Given the description of an element on the screen output the (x, y) to click on. 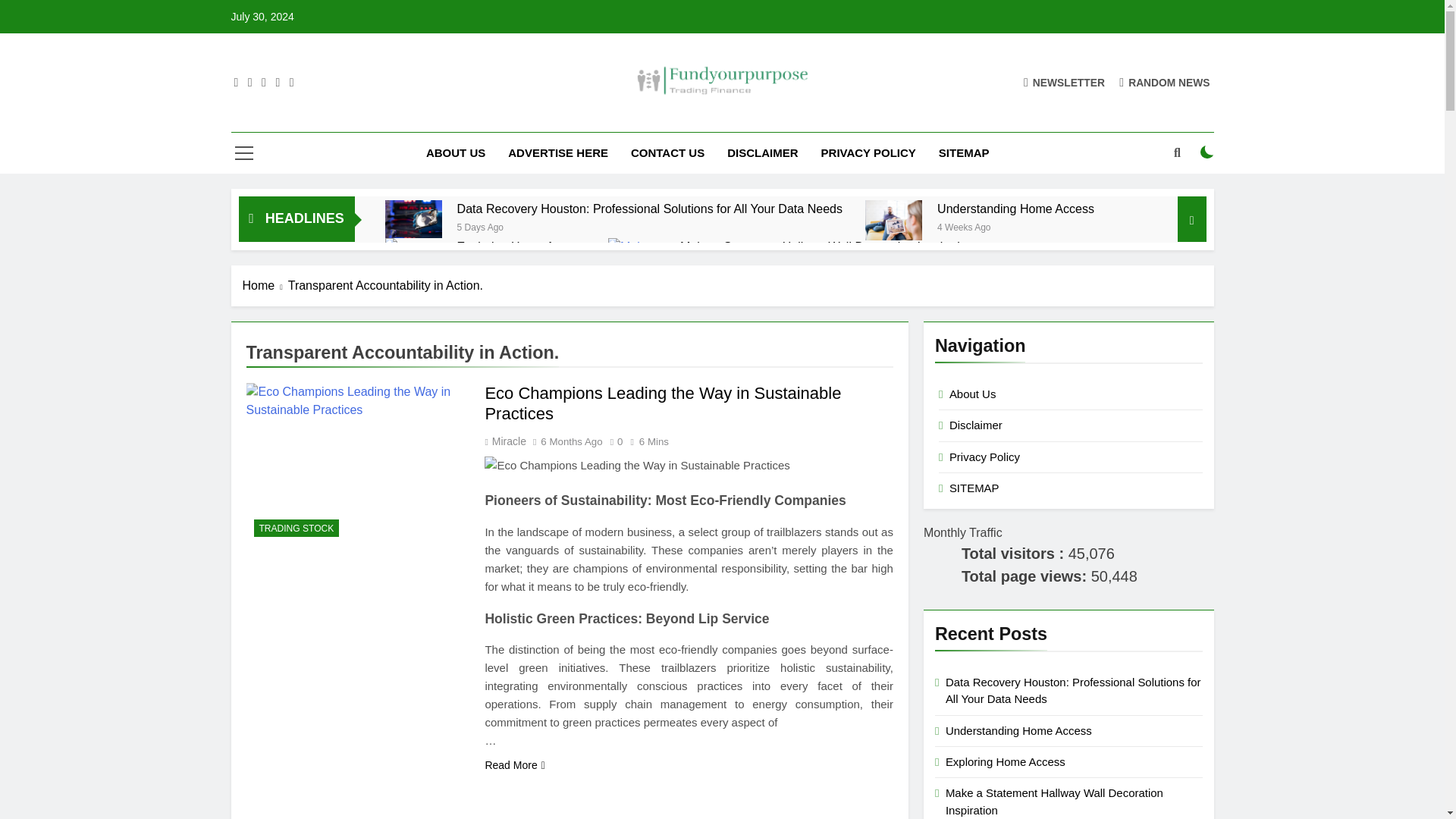
5 Days Ago (480, 226)
CONTACT US (668, 152)
Understanding Home Access (1015, 208)
ADVERTISE HERE (558, 152)
Exploring Home Access (521, 246)
4 Weeks Ago (964, 226)
Understanding Home Access (892, 219)
Exploring Home Access (521, 246)
Fundyourpurpose (612, 118)
Understanding Home Access (1015, 208)
ABOUT US (455, 152)
Make a Statement Hallway Wall Decoration Inspiration (825, 246)
